Given the description of an element on the screen output the (x, y) to click on. 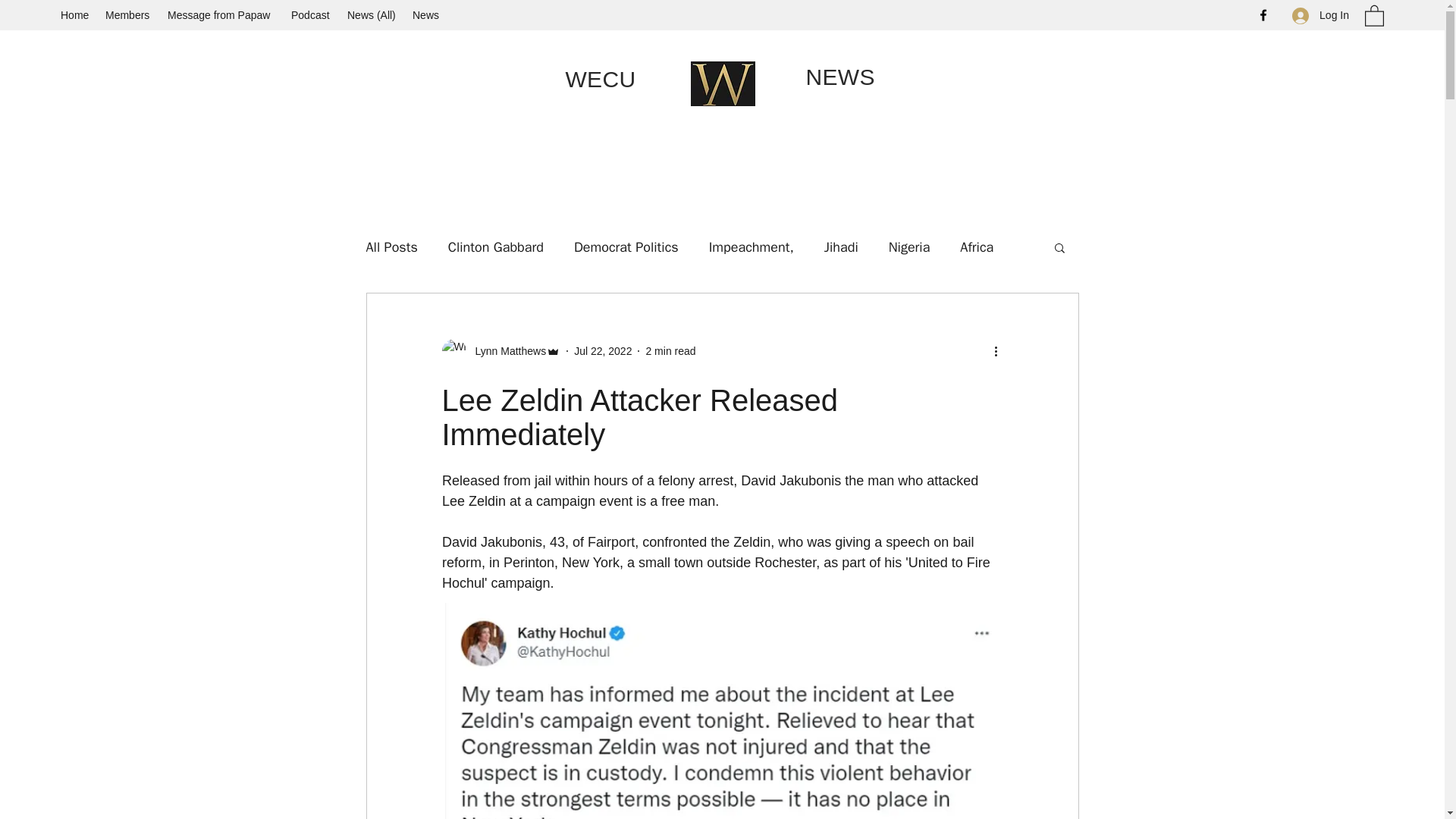
Message from Papaw (221, 15)
Home (74, 15)
All Posts (390, 247)
Lynn Matthews (505, 350)
Members (128, 15)
Impeachment, (751, 247)
News (426, 15)
Jul 22, 2022 (602, 349)
Africa (975, 247)
Jihadi (841, 247)
Podcast (311, 15)
Democrat Politics (625, 247)
Clinton Gabbard (495, 247)
Log In (1320, 15)
2 min read (670, 349)
